Given the description of an element on the screen output the (x, y) to click on. 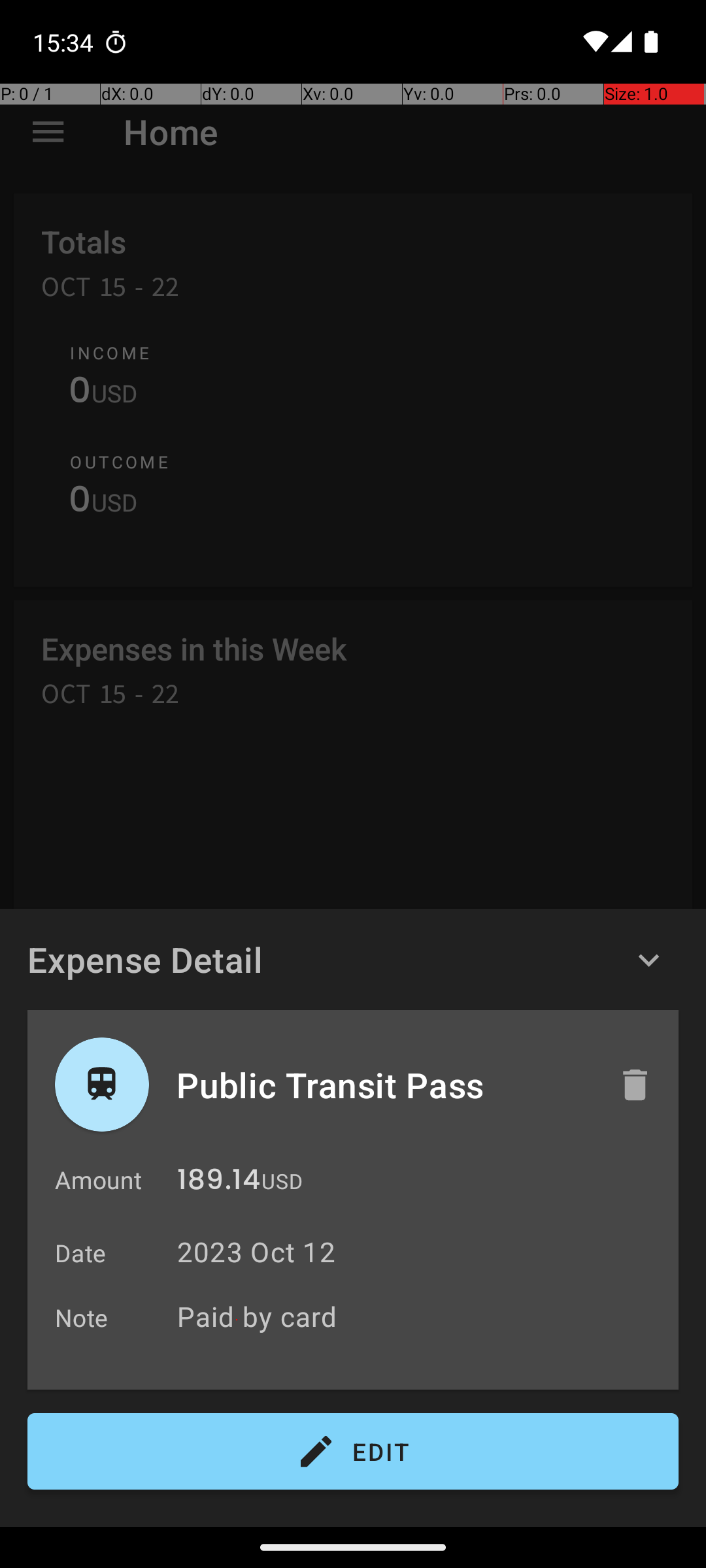
Public Transit Pass Element type: android.widget.TextView (383, 1084)
189.14 Element type: android.widget.TextView (218, 1182)
